Given the description of an element on the screen output the (x, y) to click on. 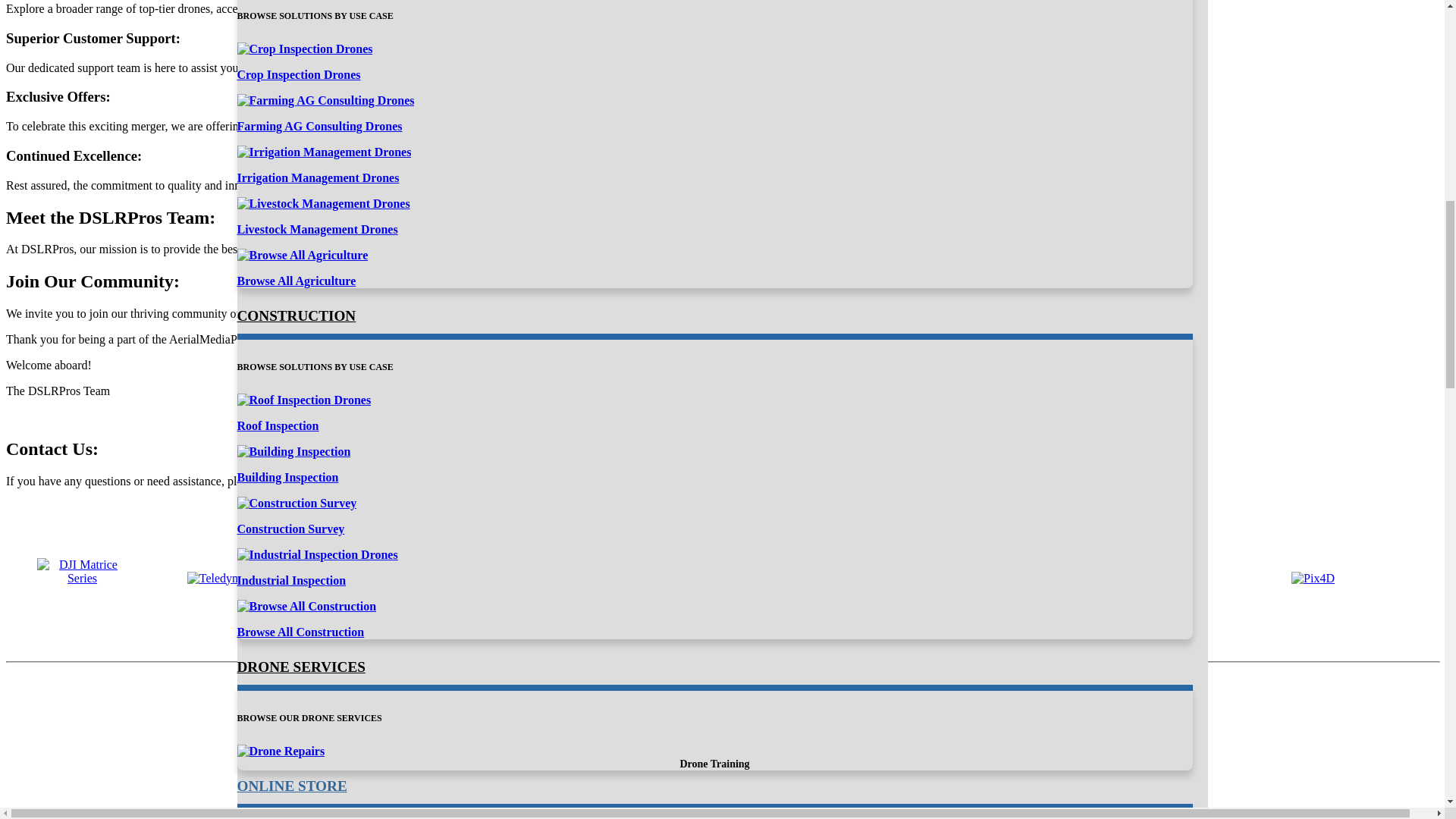
Irrigation Management Drones (316, 177)
Farming AG Consulting Drones (318, 125)
Crop Inspection Drones (297, 74)
Livestock Management Drones (316, 228)
